Given the description of an element on the screen output the (x, y) to click on. 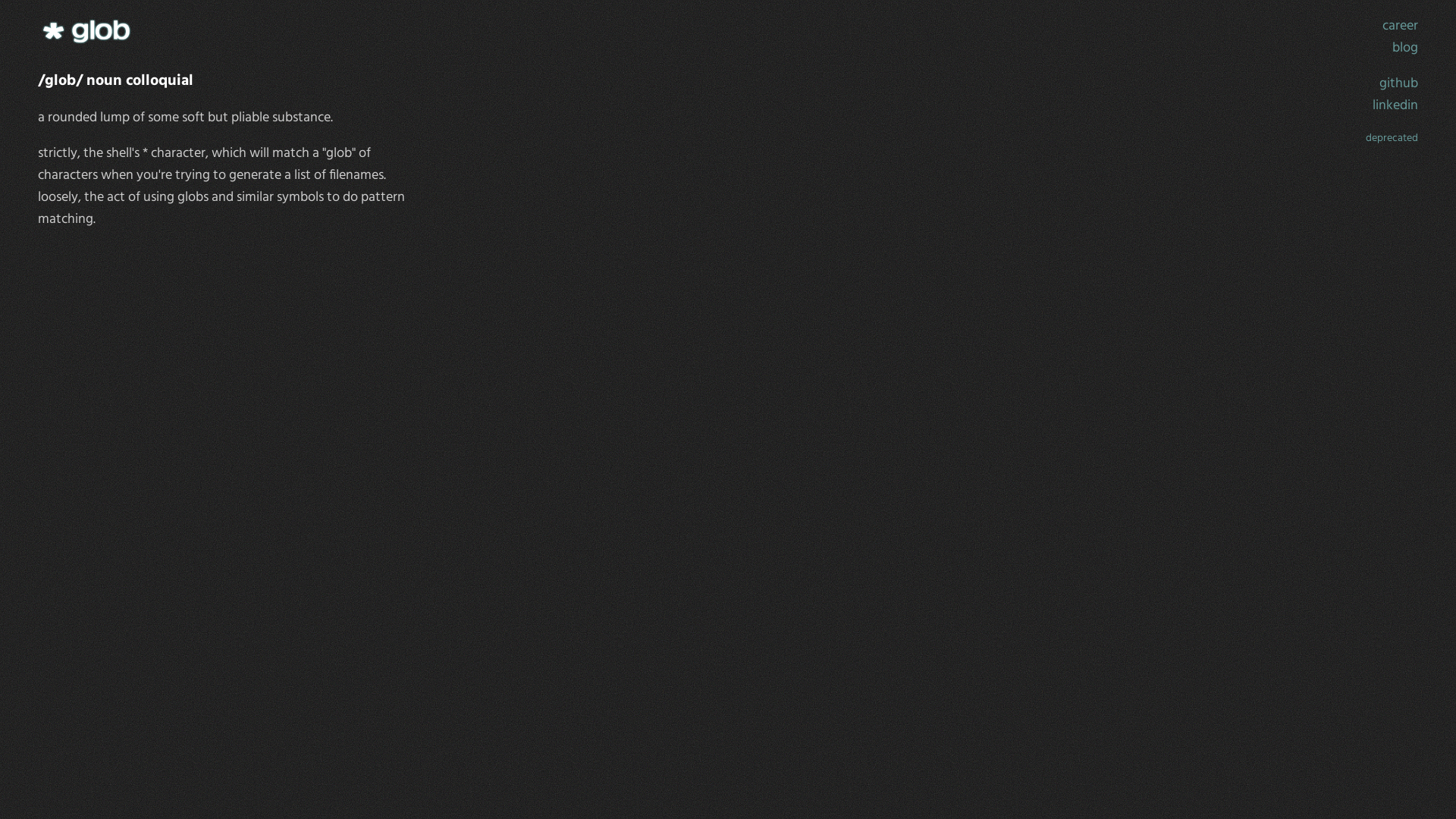
career Element type: text (1400, 26)
linkedin Element type: text (1395, 105)
deprecated Element type: text (1391, 138)
blog Element type: text (1405, 48)
github Element type: text (1398, 83)
